Given the description of an element on the screen output the (x, y) to click on. 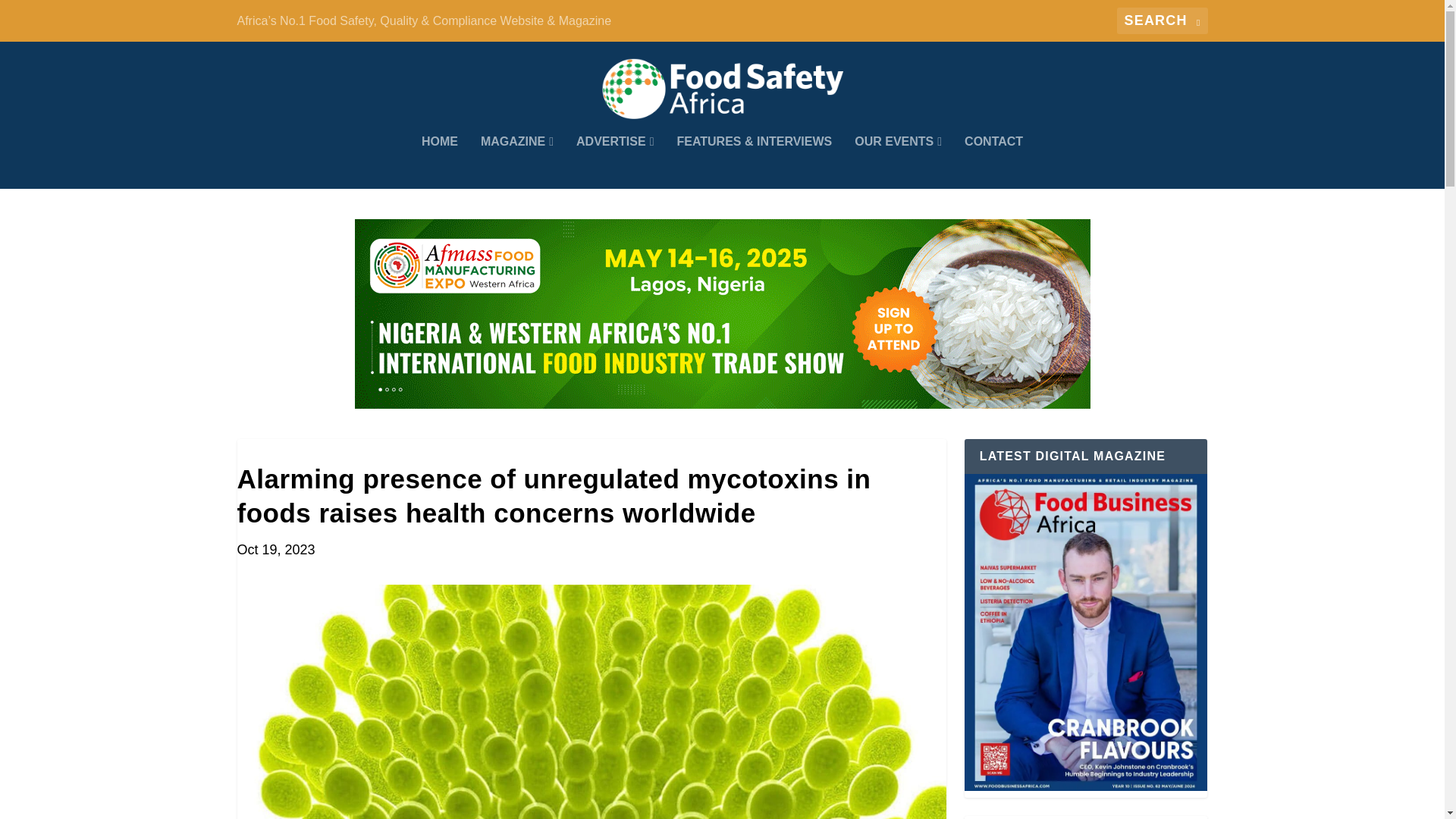
CONTACT (993, 162)
OUR EVENTS (898, 162)
Search for: (1161, 20)
ADVERTISE (614, 162)
MAGAZINE (516, 162)
